Given the description of an element on the screen output the (x, y) to click on. 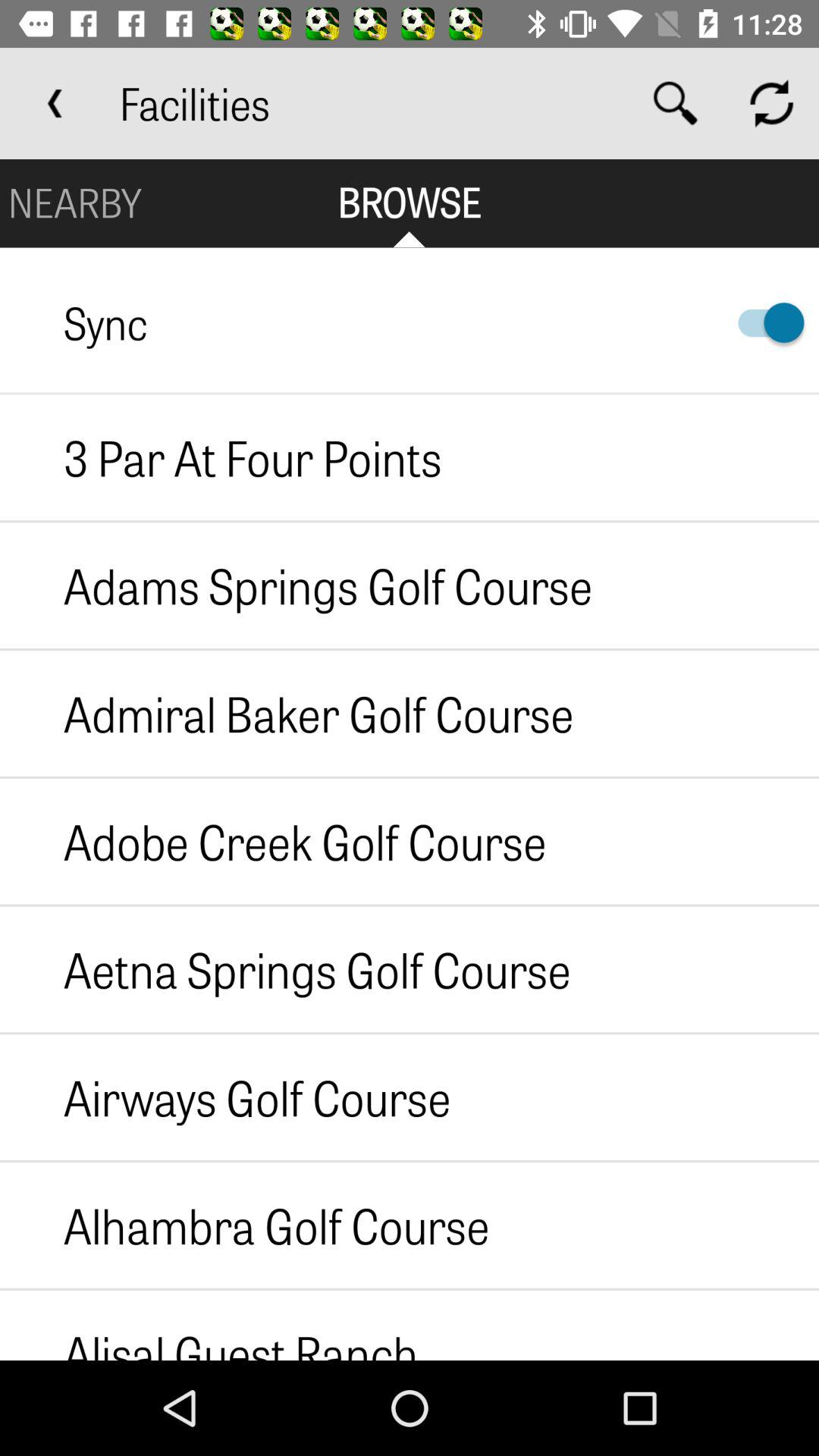
scroll until admiral baker golf (286, 713)
